Given the description of an element on the screen output the (x, y) to click on. 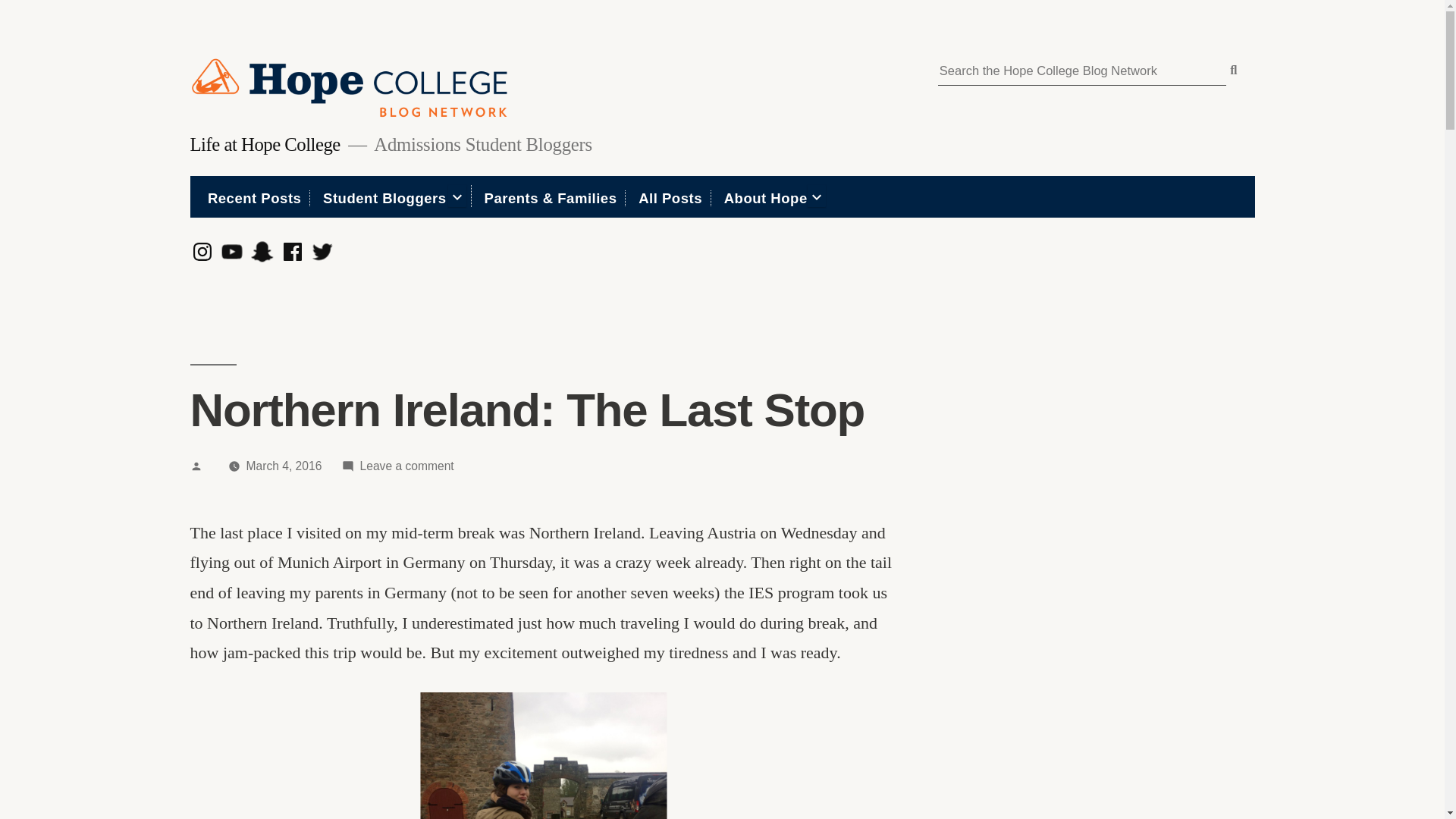
Snapchat (406, 465)
Life at Hope College (262, 251)
March 4, 2016 (264, 144)
Instagram (283, 465)
Student Bloggers (201, 251)
Recent Posts (384, 198)
All Posts (254, 198)
Twitter (670, 198)
Facebook (322, 251)
